Given the description of an element on the screen output the (x, y) to click on. 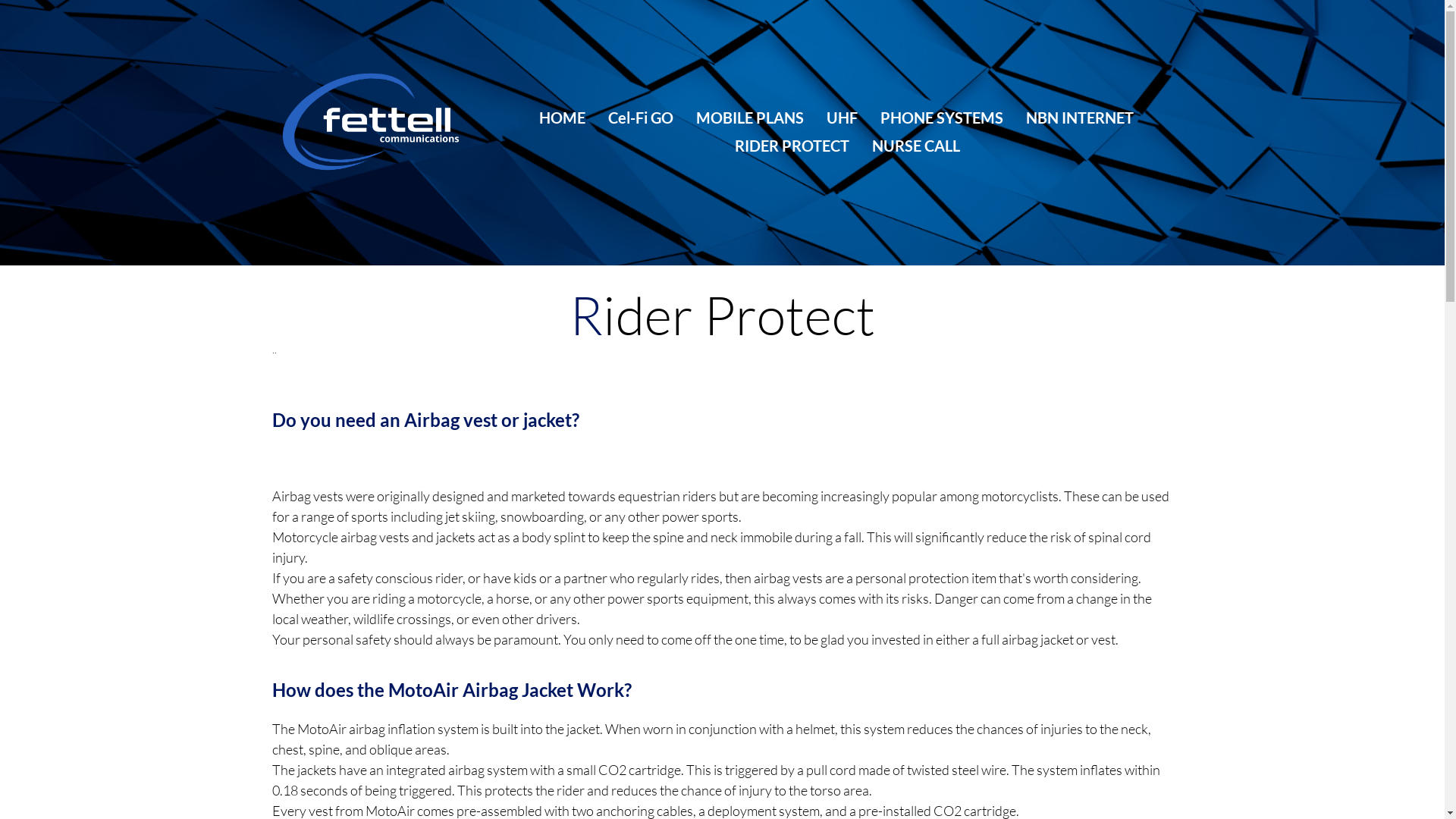
HOME Element type: text (561, 118)
UHF Element type: text (841, 118)
NBN INTERNET Element type: text (1078, 118)
Cel-Fi GO Element type: text (640, 118)
RIDER PROTECT Element type: text (791, 145)
MOBILE PLANS Element type: text (749, 118)
NURSE CALL Element type: text (916, 145)
PHONE SYSTEMS Element type: text (940, 118)
